Given the description of an element on the screen output the (x, y) to click on. 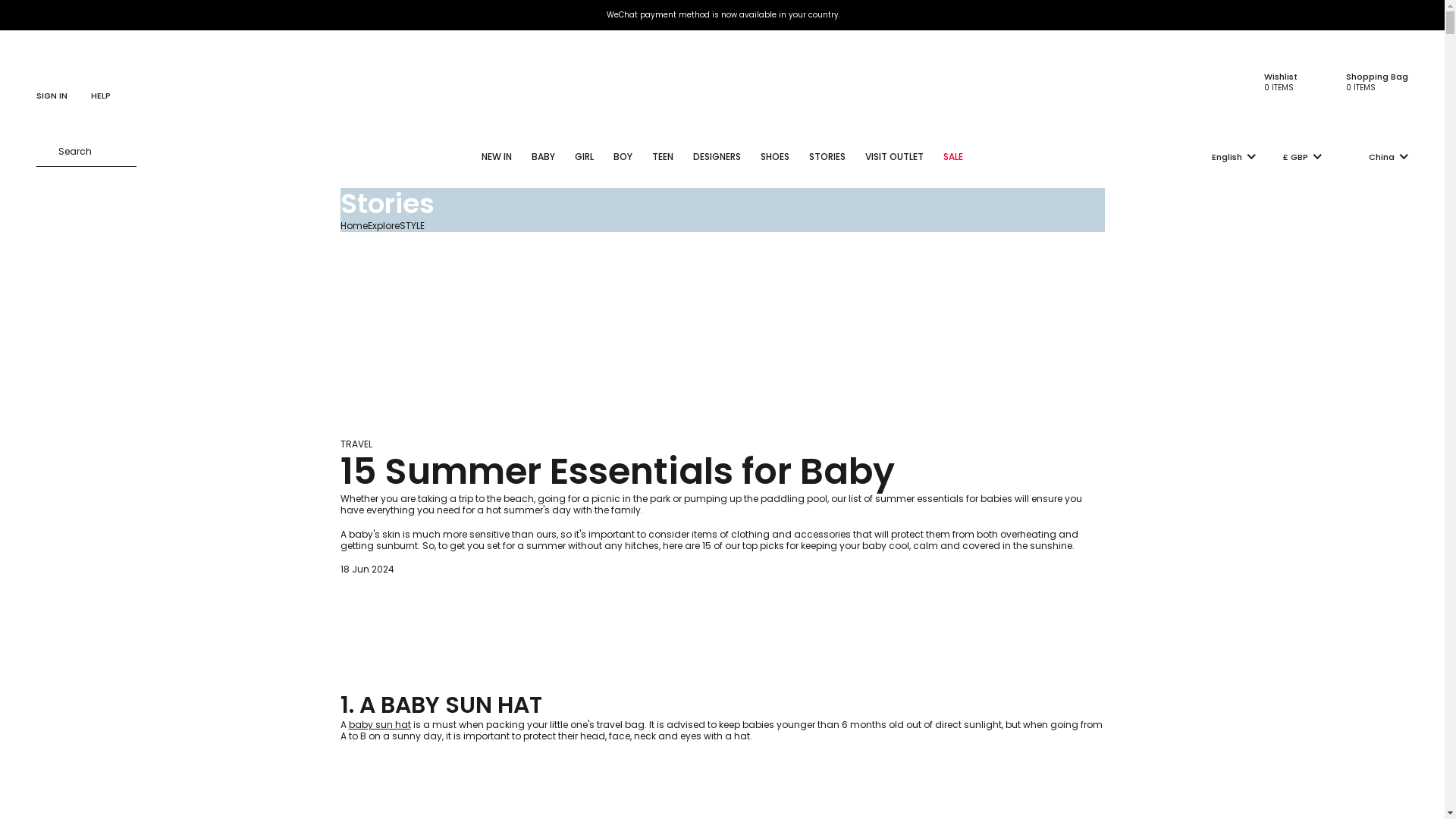
STYLE (410, 225)
Home (1270, 82)
Share Facebook (352, 225)
BABY (1366, 82)
SALE (453, 684)
STORIES (542, 157)
VISIT OUTLET (952, 157)
GIRL (827, 157)
HELP (894, 157)
BOY (584, 157)
TRAVEL (100, 85)
Tweet (623, 157)
SHOES (355, 443)
